Given the description of an element on the screen output the (x, y) to click on. 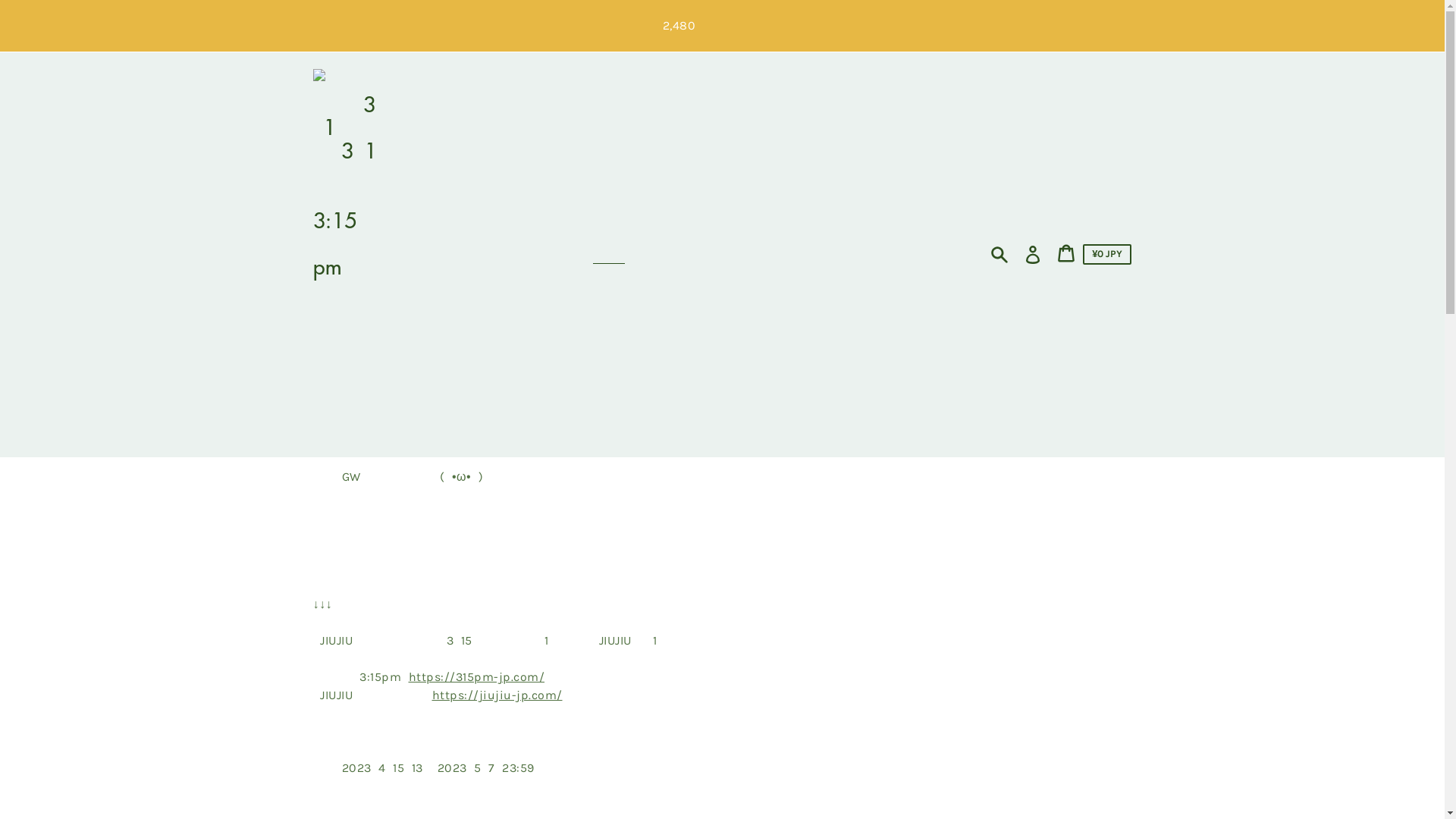
https://jiujiu-jp.com/ Element type: text (497, 694)
https://315pm-jp.com/ Element type: text (475, 676)
